Given the description of an element on the screen output the (x, y) to click on. 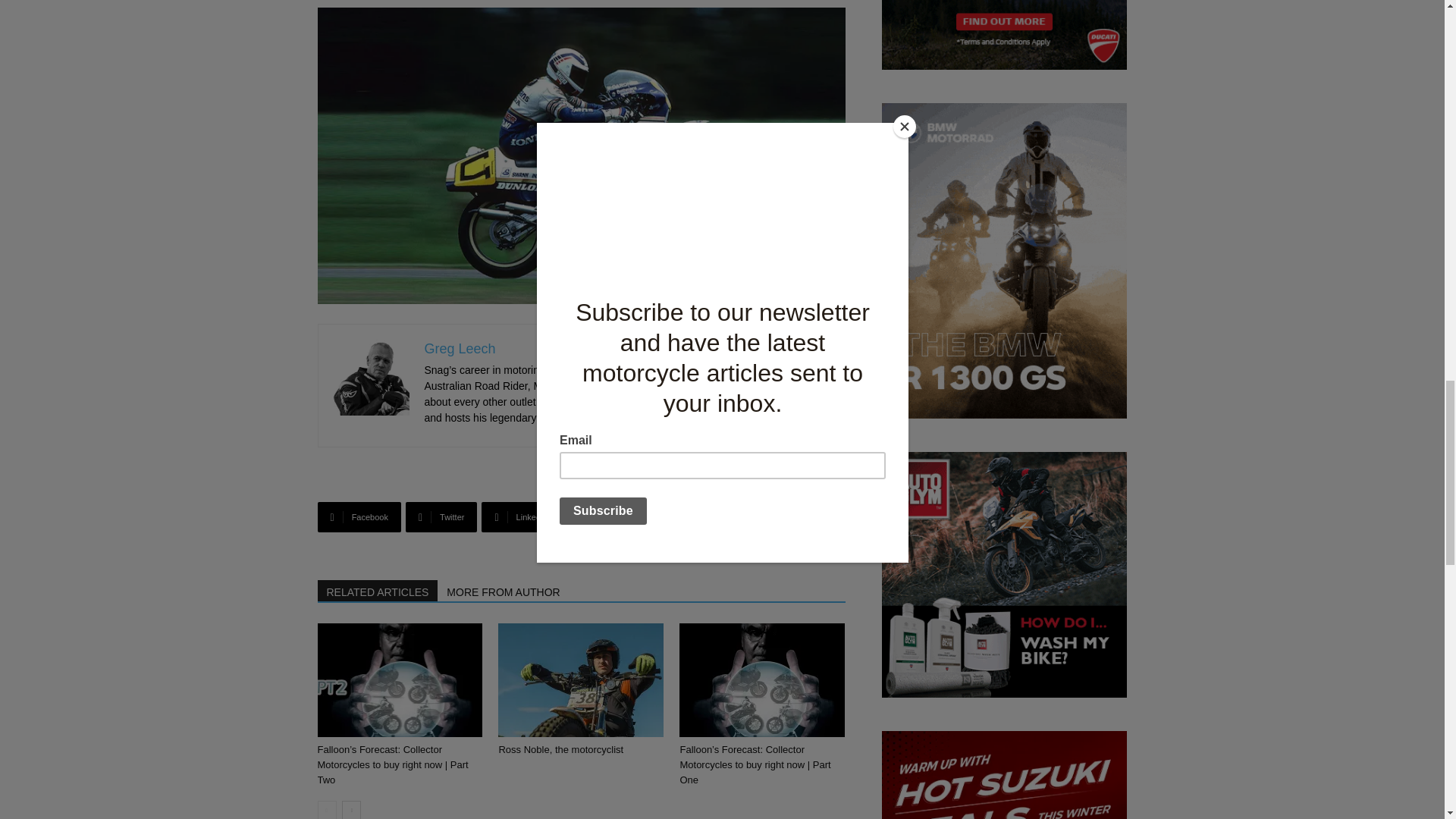
Linkedin (520, 517)
Twitter (441, 517)
Facebook (358, 517)
WhatsApp (607, 517)
